Given the description of an element on the screen output the (x, y) to click on. 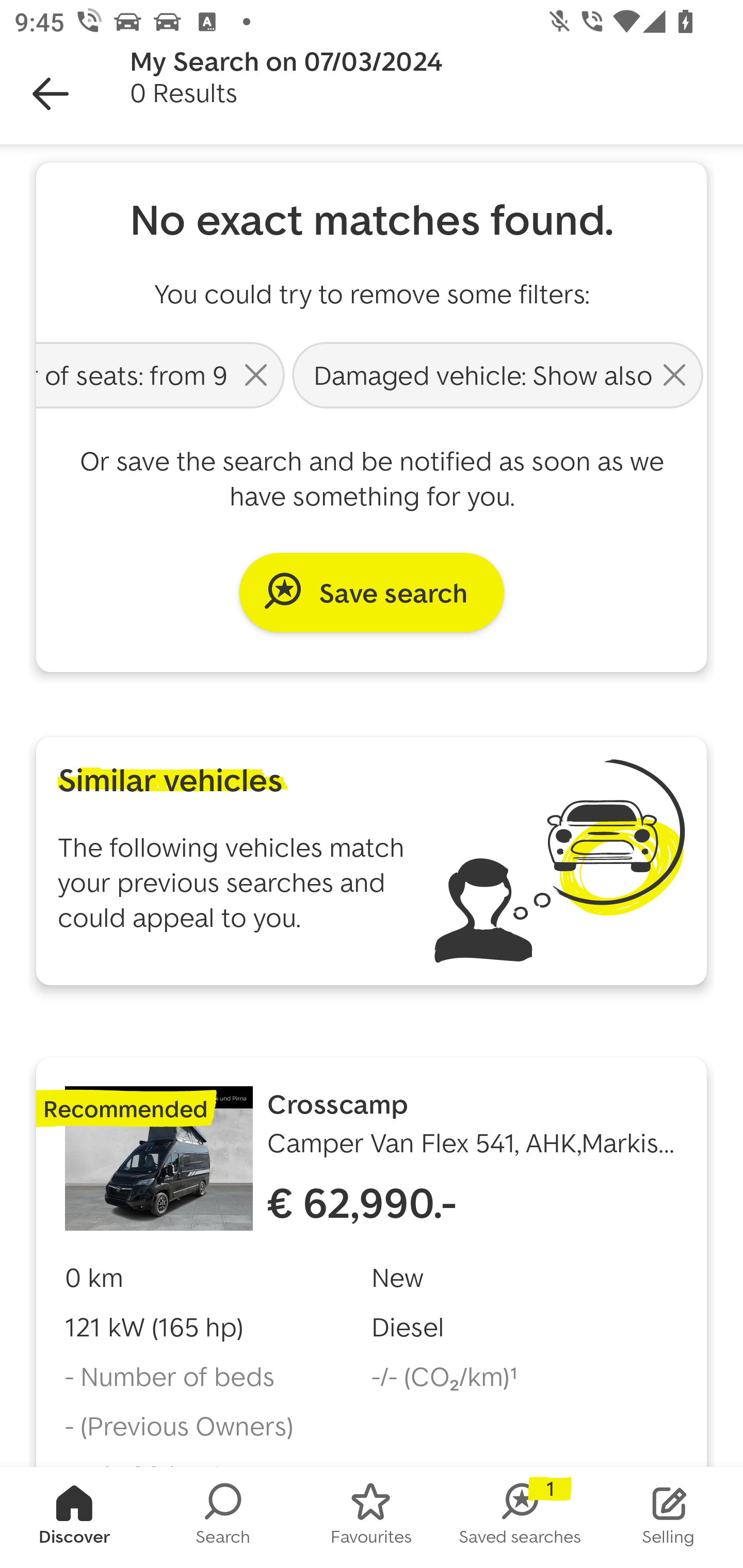
Navigate up (50, 93)
Number of seats: from 9  (162, 374)
Damaged vehicle: Show also (497, 374)
Save search (371, 592)
HOMESCREEN Discover (74, 1517)
SEARCH Search (222, 1517)
FAVORITES Favourites (371, 1517)
SAVED_SEARCHES Saved searches 1 (519, 1517)
STOCK_LIST Selling (668, 1517)
